Given the description of an element on the screen output the (x, y) to click on. 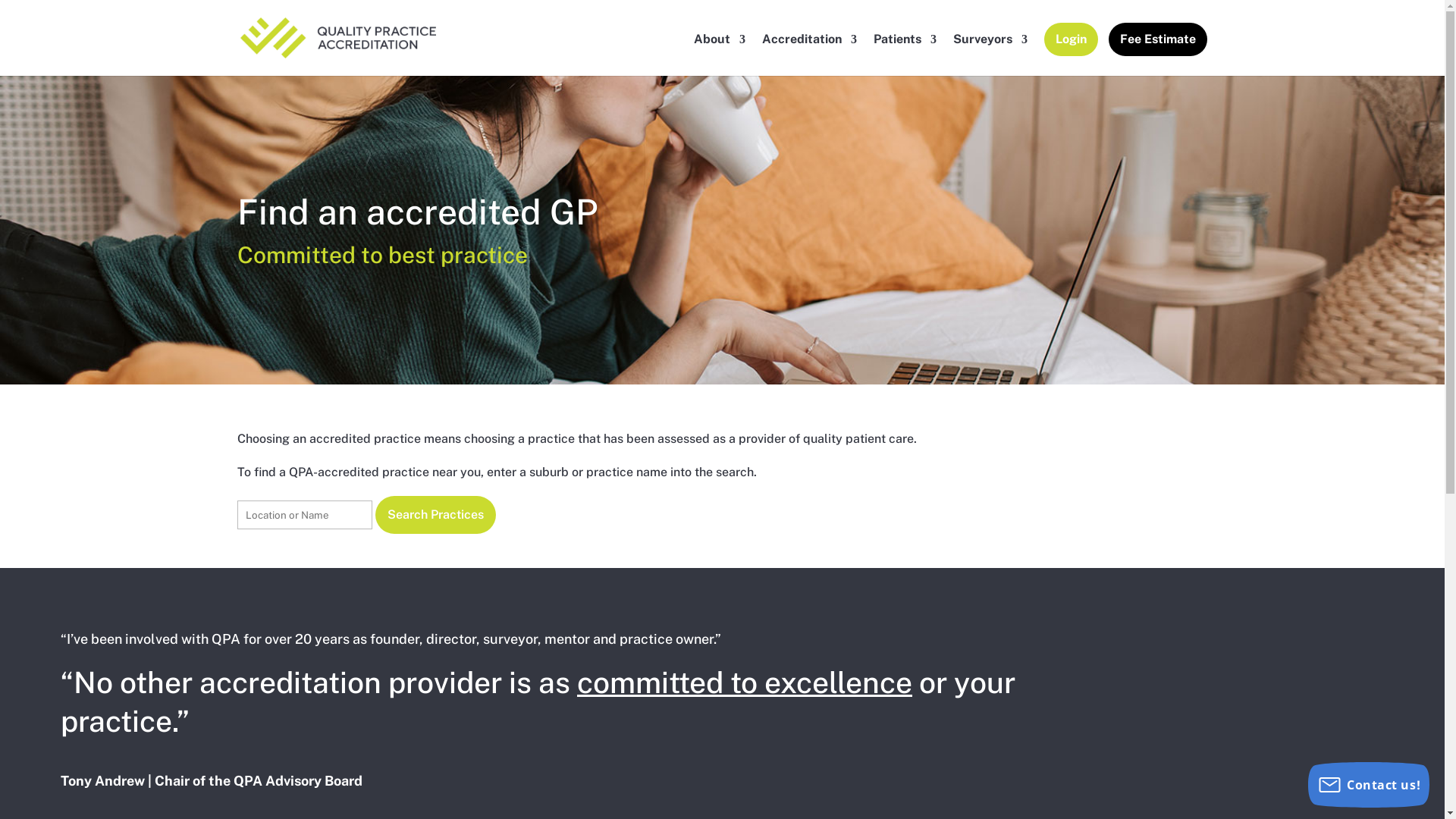
Surveyors Element type: text (990, 54)
About Element type: text (719, 54)
Search Practices Element type: text (435, 514)
Patients Element type: text (904, 54)
Contact us! Element type: text (1368, 784)
Login Element type: text (1070, 52)
Accreditation Element type: text (809, 54)
Fee Estimate Element type: text (1157, 52)
